Given the description of an element on the screen output the (x, y) to click on. 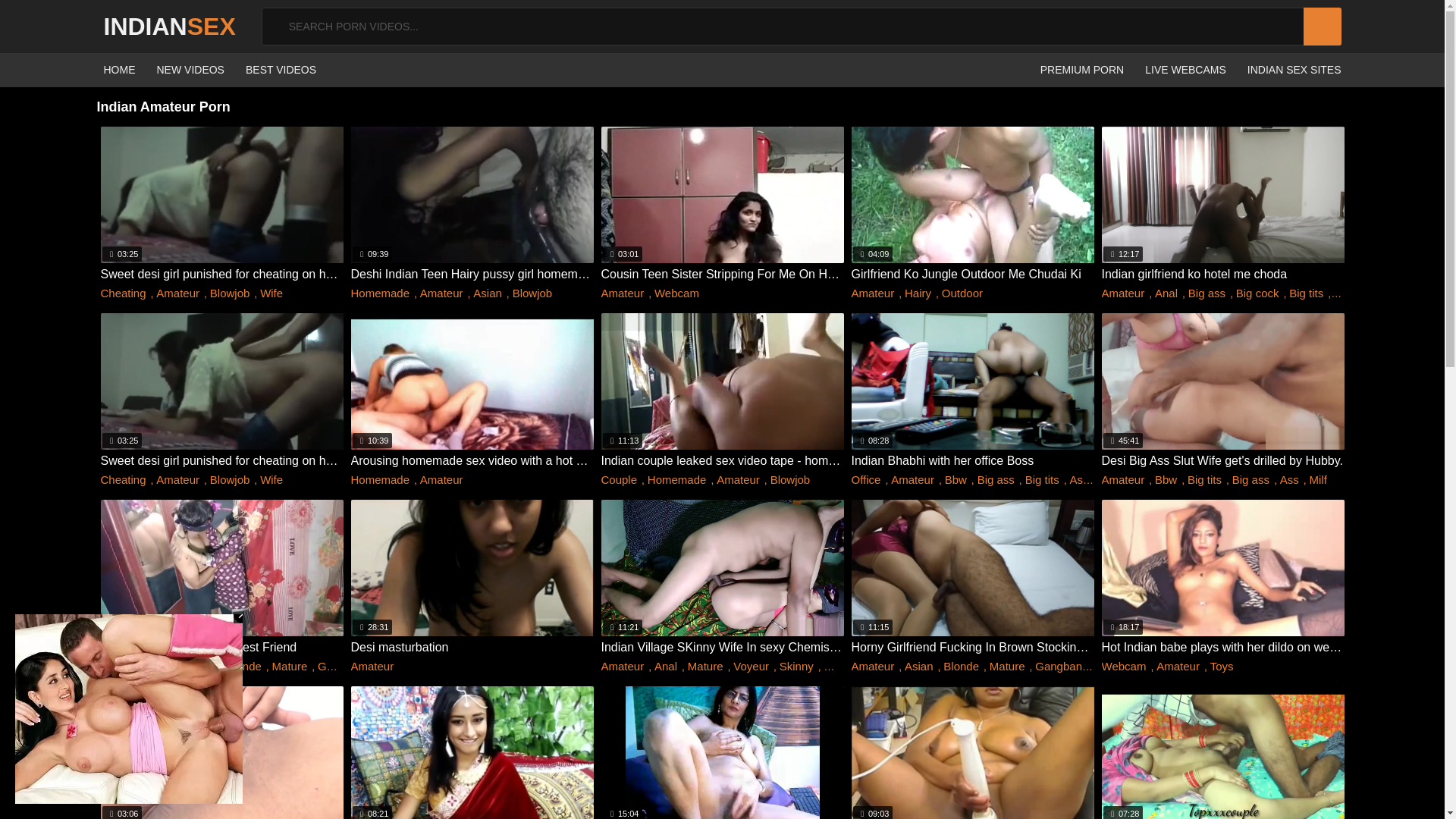
Amateur (621, 292)
Cousin Teen Sister Stripping For Me On Her Birthday (721, 274)
Asian (487, 292)
Amateur (1122, 292)
Outdoor (962, 292)
Amateur (177, 292)
Homemade (379, 292)
PREMIUM PORN (1082, 69)
LIVE WEBCAMS (1184, 69)
Blowjob (229, 292)
Blowjob (532, 292)
Big tits (1305, 292)
Amateur (871, 292)
Big cock (1257, 292)
Deshi Indian Teen Hairy pussy girl homemade Sex scandal (471, 274)
